Given the description of an element on the screen output the (x, y) to click on. 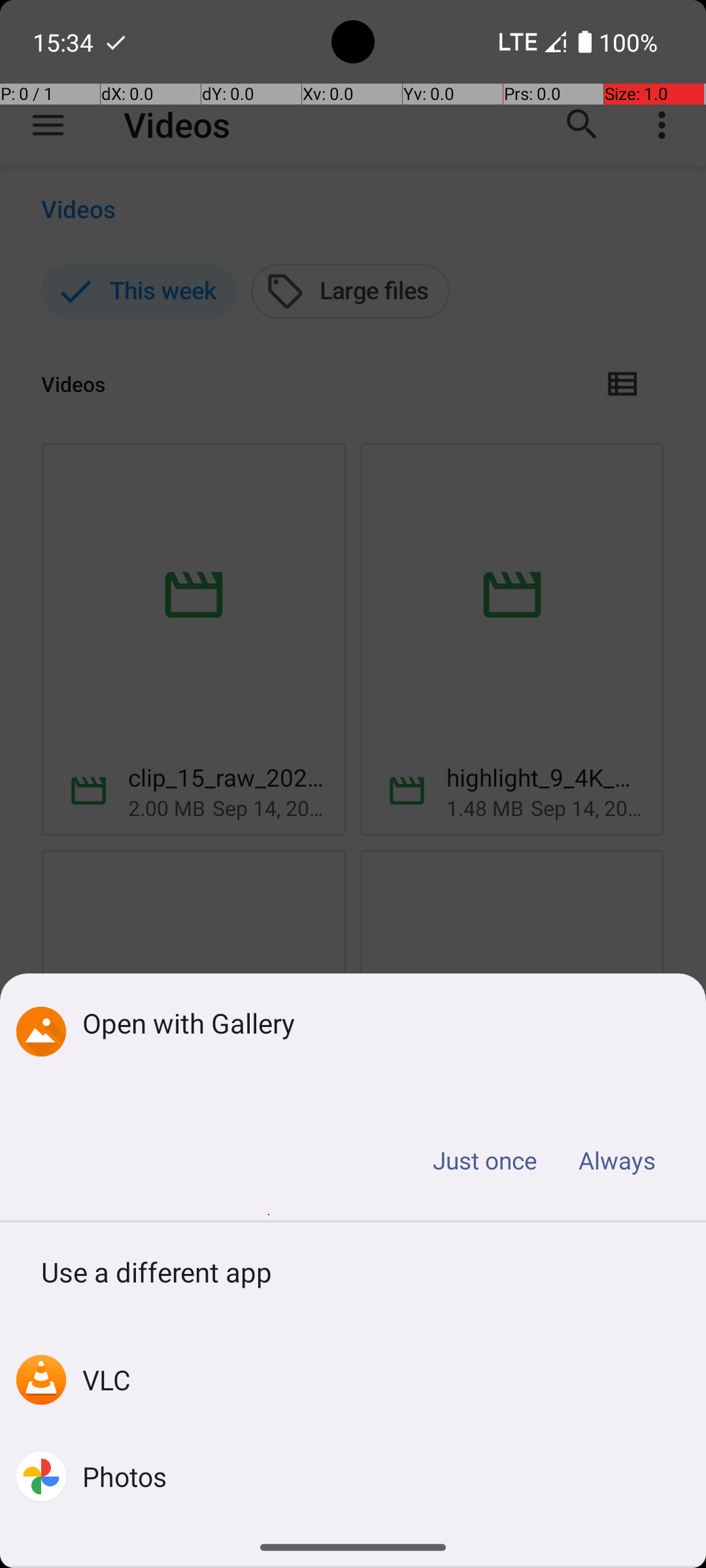
Open with Gallery Element type: android.widget.TextView (373, 1022)
Use a different app Element type: android.widget.TextView (353, 1276)
